Given the description of an element on the screen output the (x, y) to click on. 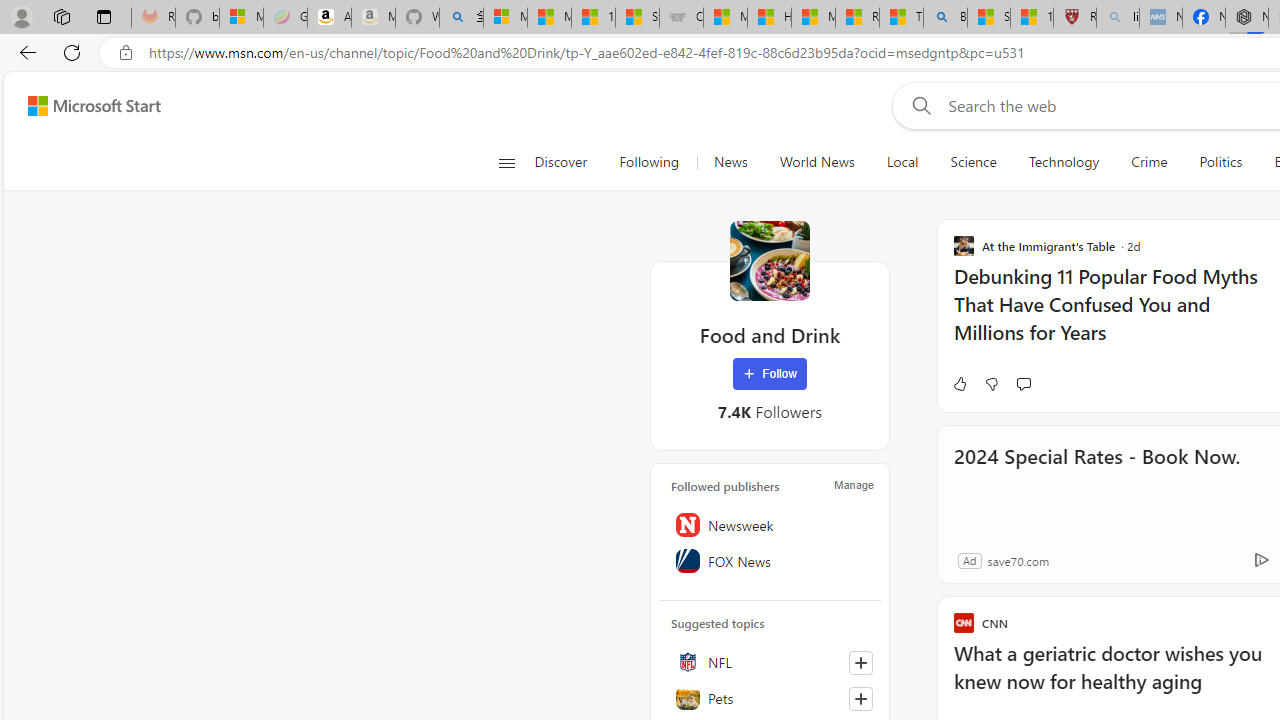
save70.com (1017, 560)
Manage (854, 484)
12 Popular Science Lies that Must be Corrected (1032, 17)
Recipes - MSN (857, 17)
